Given the description of an element on the screen output the (x, y) to click on. 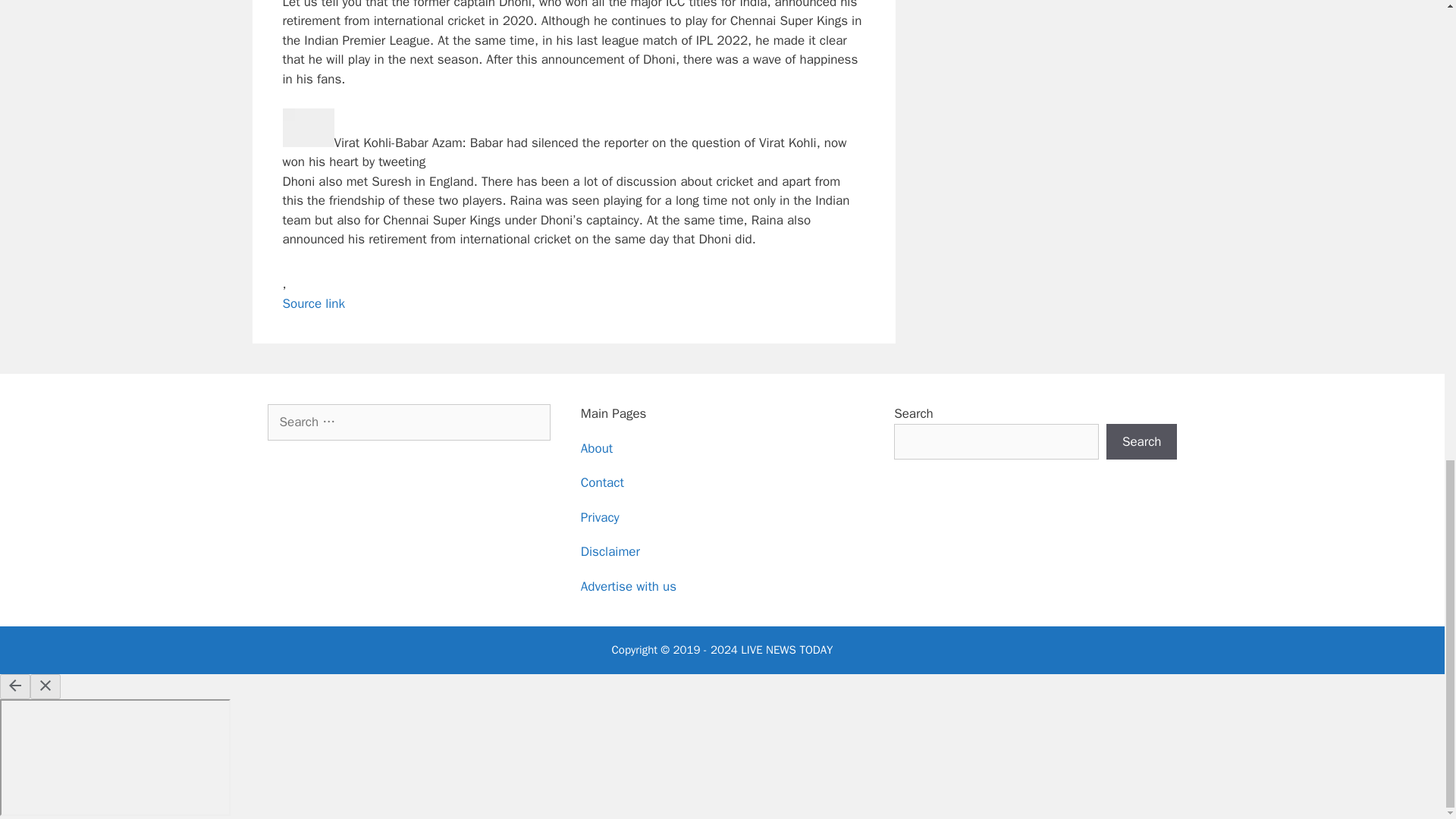
Search for: (408, 422)
Contact (602, 482)
Scroll back to top (1406, 481)
About (596, 448)
Privacy (600, 517)
Source link (313, 303)
Disclaimer (610, 551)
